Given the description of an element on the screen output the (x, y) to click on. 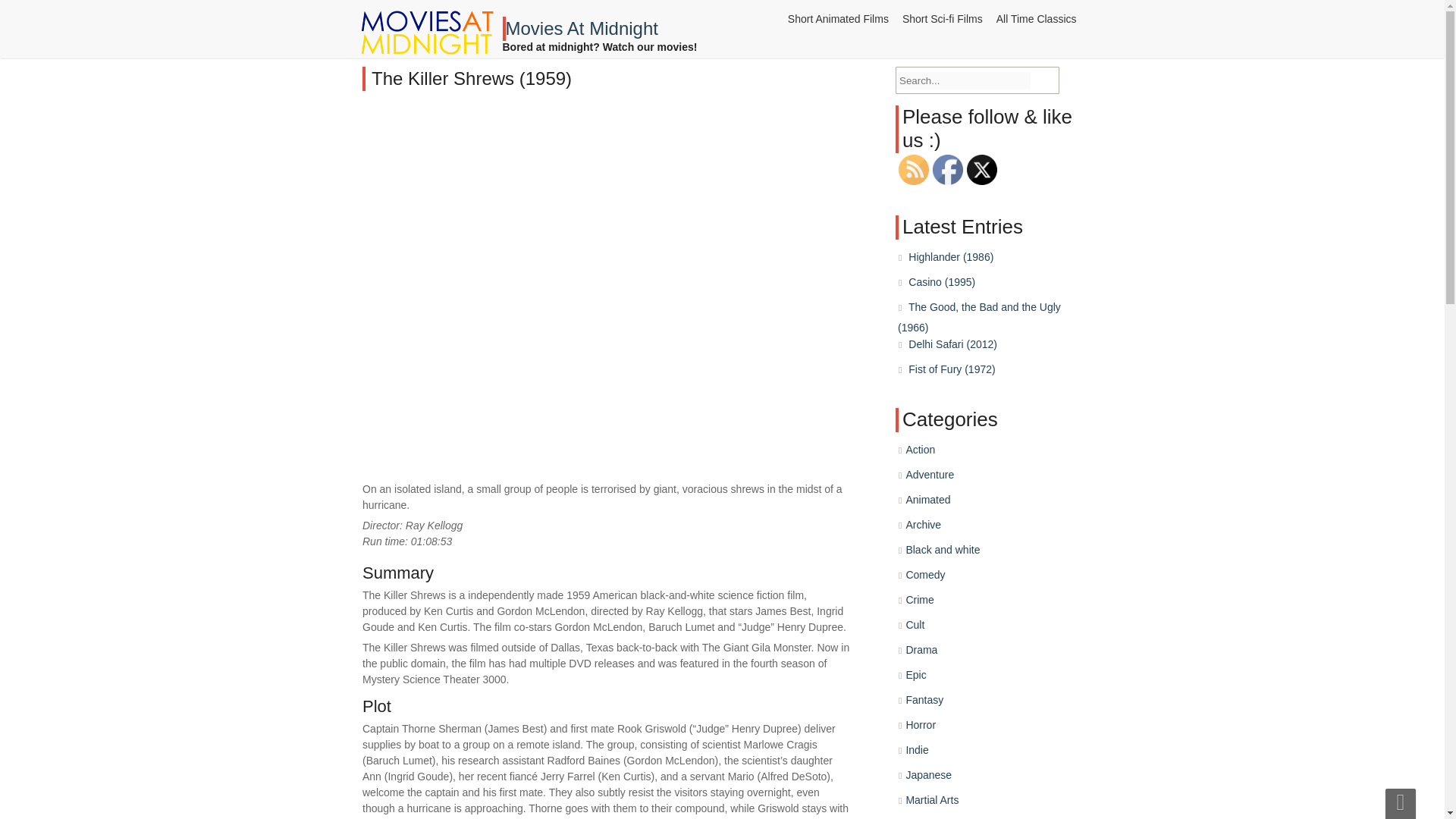
Comedy (927, 576)
Movies At Midnight (599, 31)
Twitter (981, 169)
Drama (923, 648)
Indie (918, 748)
Epic (917, 674)
Action (925, 461)
Crime (922, 600)
Animated (932, 506)
Horror (922, 723)
